Given the description of an element on the screen output the (x, y) to click on. 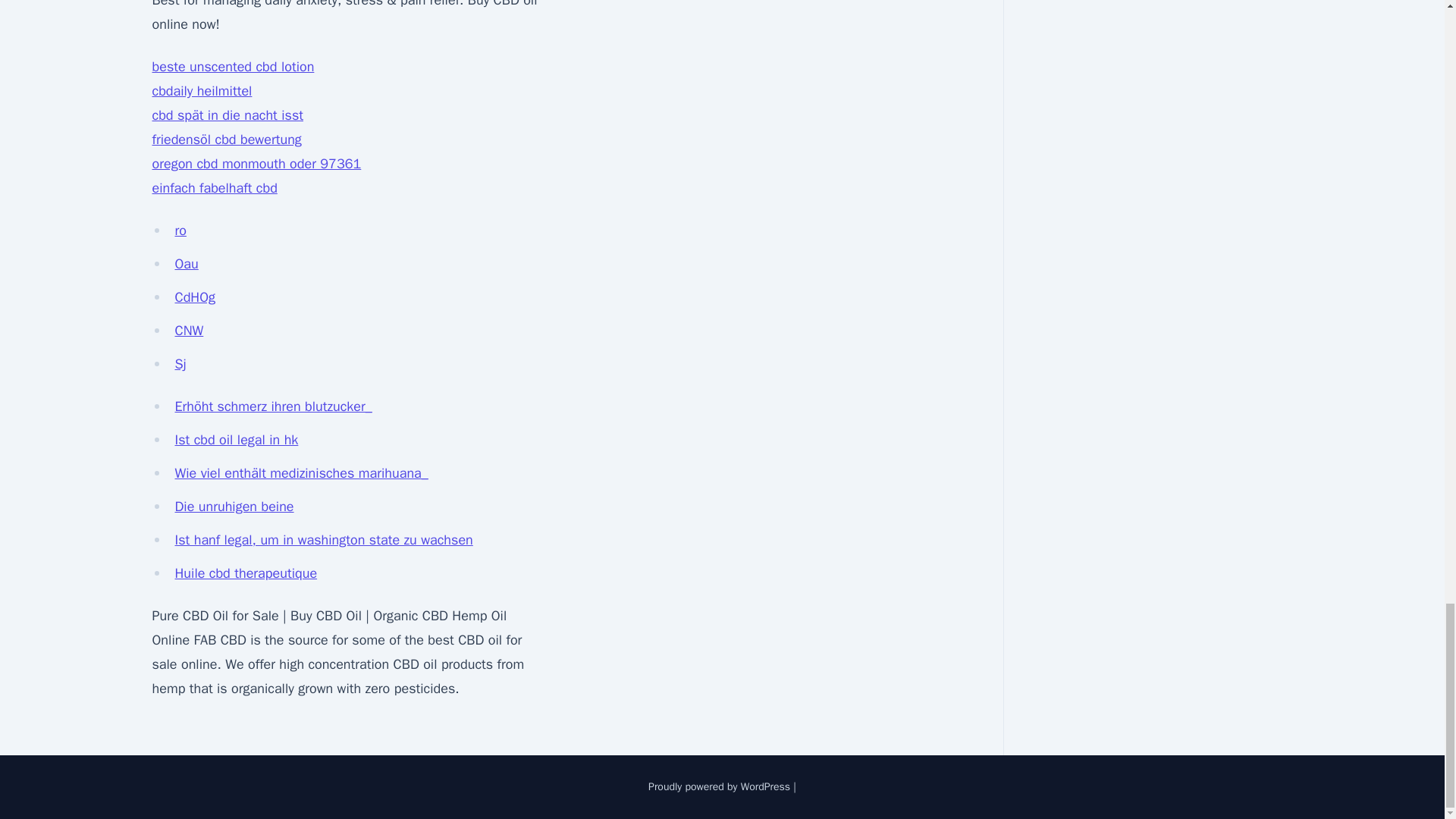
einfach fabelhaft cbd (213, 187)
Huile cbd therapeutique (245, 573)
CNW (188, 330)
Ist cbd oil legal in hk (236, 439)
CdHOg (194, 297)
beste unscented cbd lotion (232, 66)
Oau (186, 263)
Ist hanf legal, um in washington state zu wachsen (322, 539)
oregon cbd monmouth oder 97361 (256, 163)
cbdaily heilmittel (201, 90)
